Given the description of an element on the screen output the (x, y) to click on. 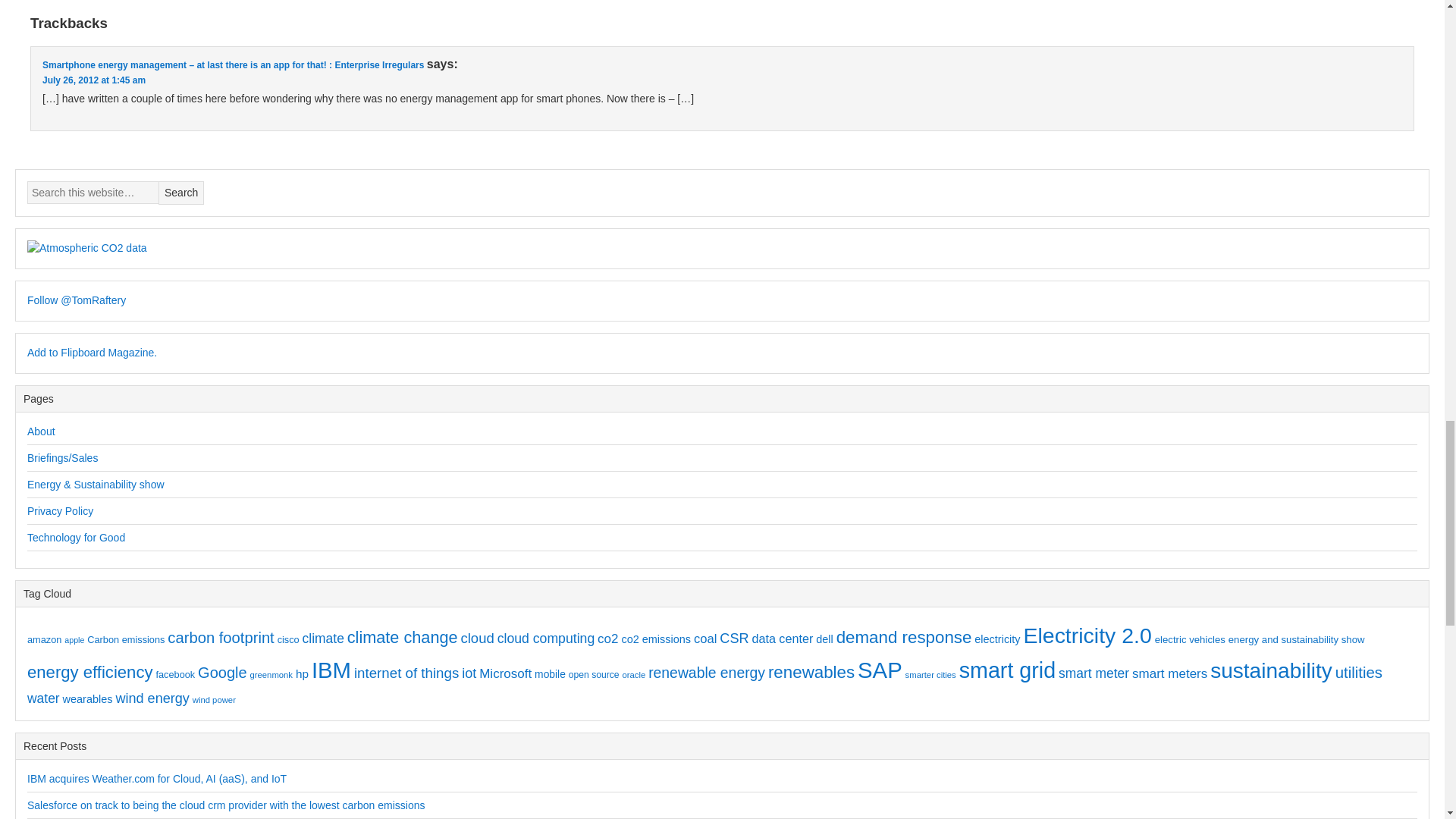
Earth's latest data for atmospheric CO2 (87, 248)
Search (180, 192)
